Given the description of an element on the screen output the (x, y) to click on. 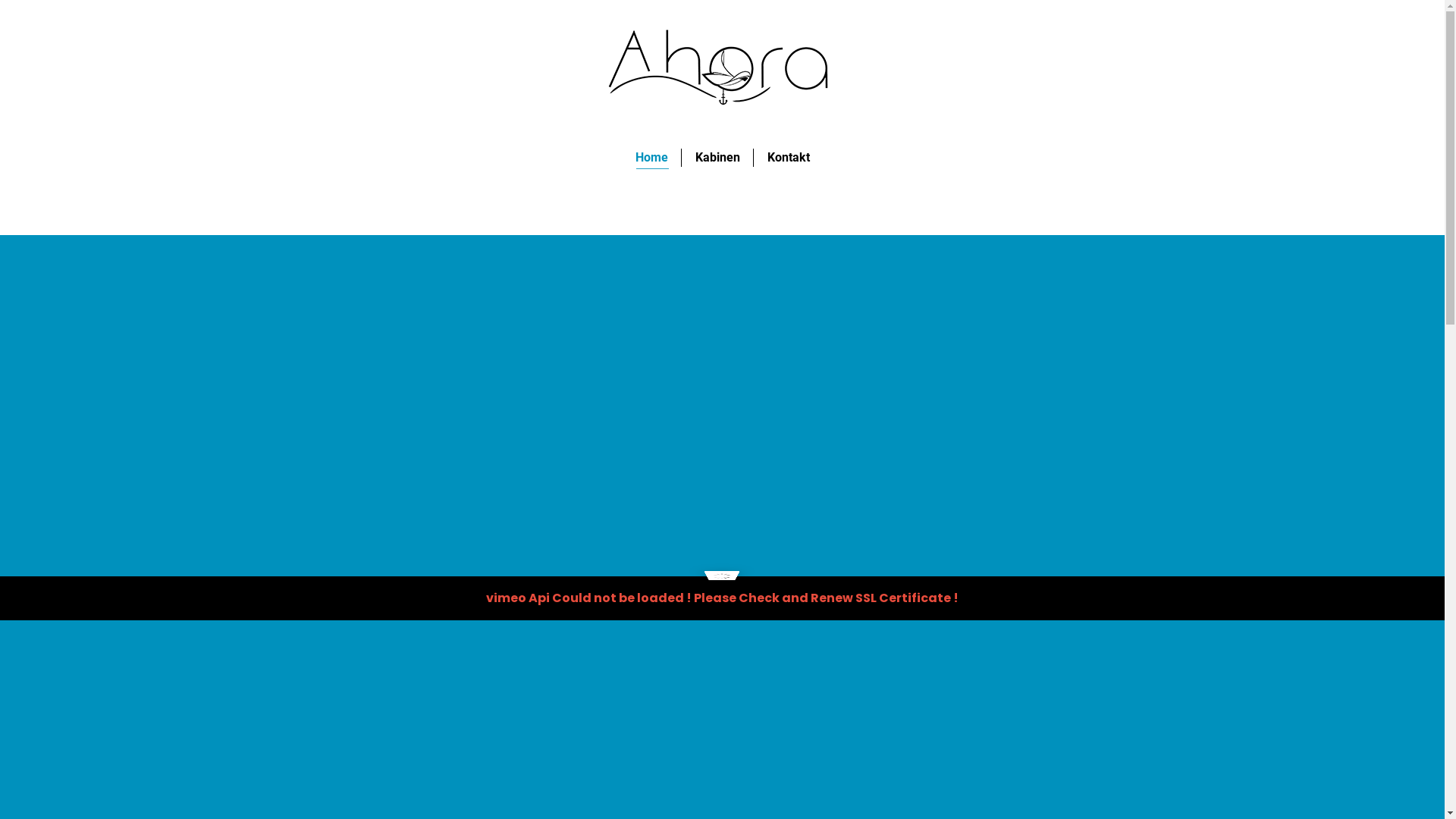
Kabinen Element type: text (716, 157)
Home Element type: text (651, 157)
Kontakt Element type: text (788, 157)
